Given the description of an element on the screen output the (x, y) to click on. 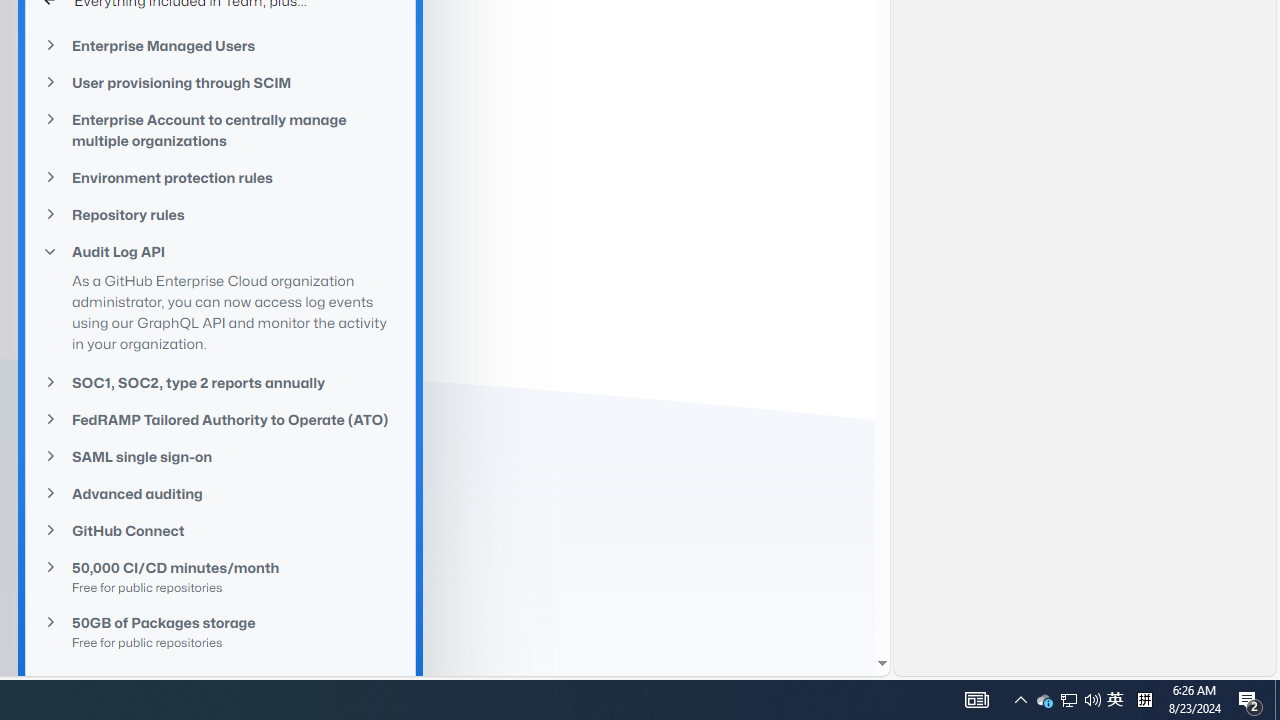
Environment protection rules (220, 178)
SOC1, SOC2, type 2 reports annually (220, 382)
GitHub Connect (220, 530)
50GB of Packages storageFree for public repositories (220, 631)
SOC1, SOC2, type 2 reports annually (220, 381)
Advanced auditing (220, 492)
User provisioning through SCIM (220, 83)
Enterprise Managed Users (220, 45)
50GB of Packages storage Free for public repositories (220, 632)
50,000 CI/CD minutes/month Free for public repositories (220, 576)
